Given the description of an element on the screen output the (x, y) to click on. 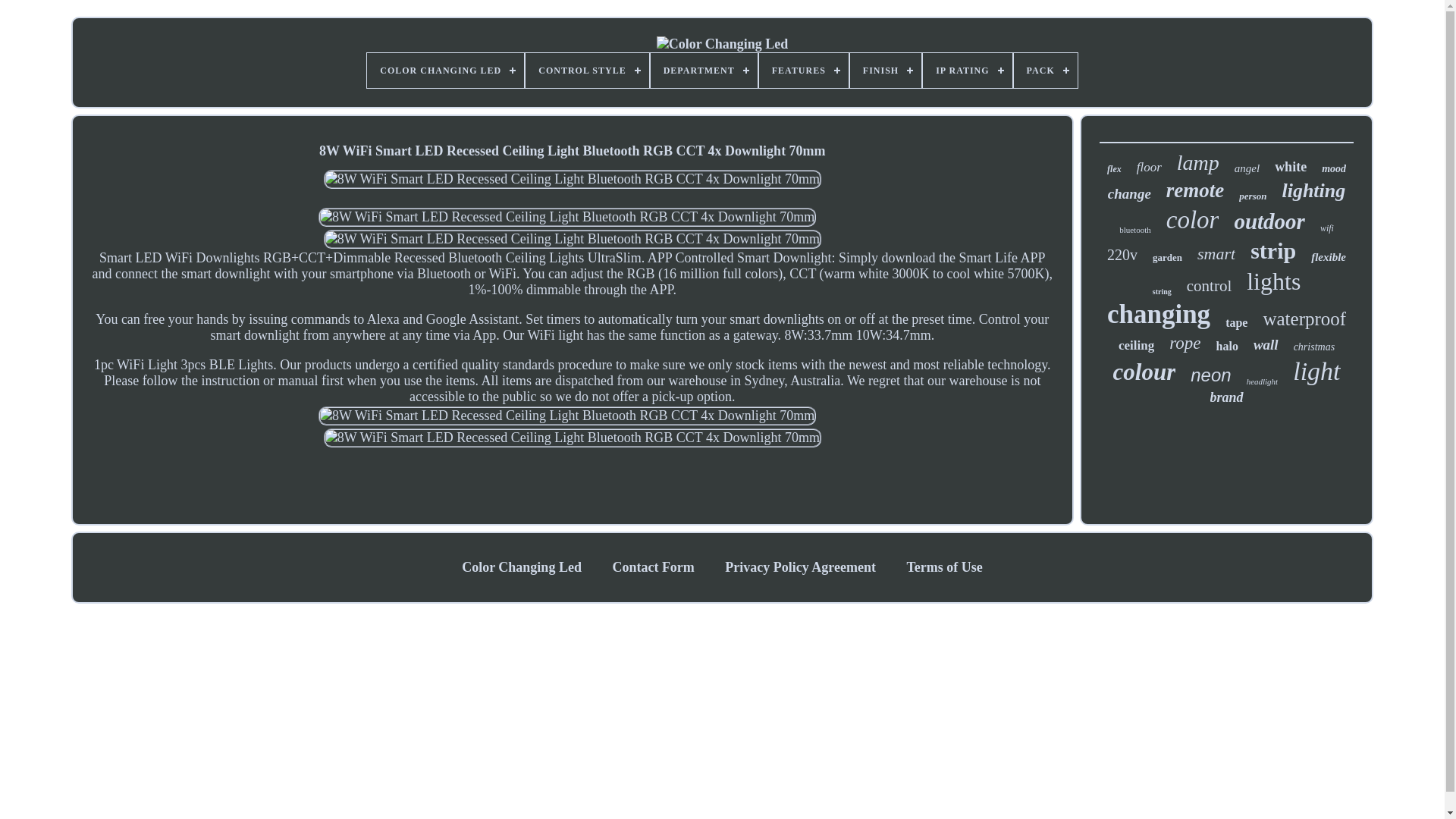
DEPARTMENT (703, 70)
CONTROL STYLE (586, 70)
COLOR CHANGING LED (445, 70)
